Given the description of an element on the screen output the (x, y) to click on. 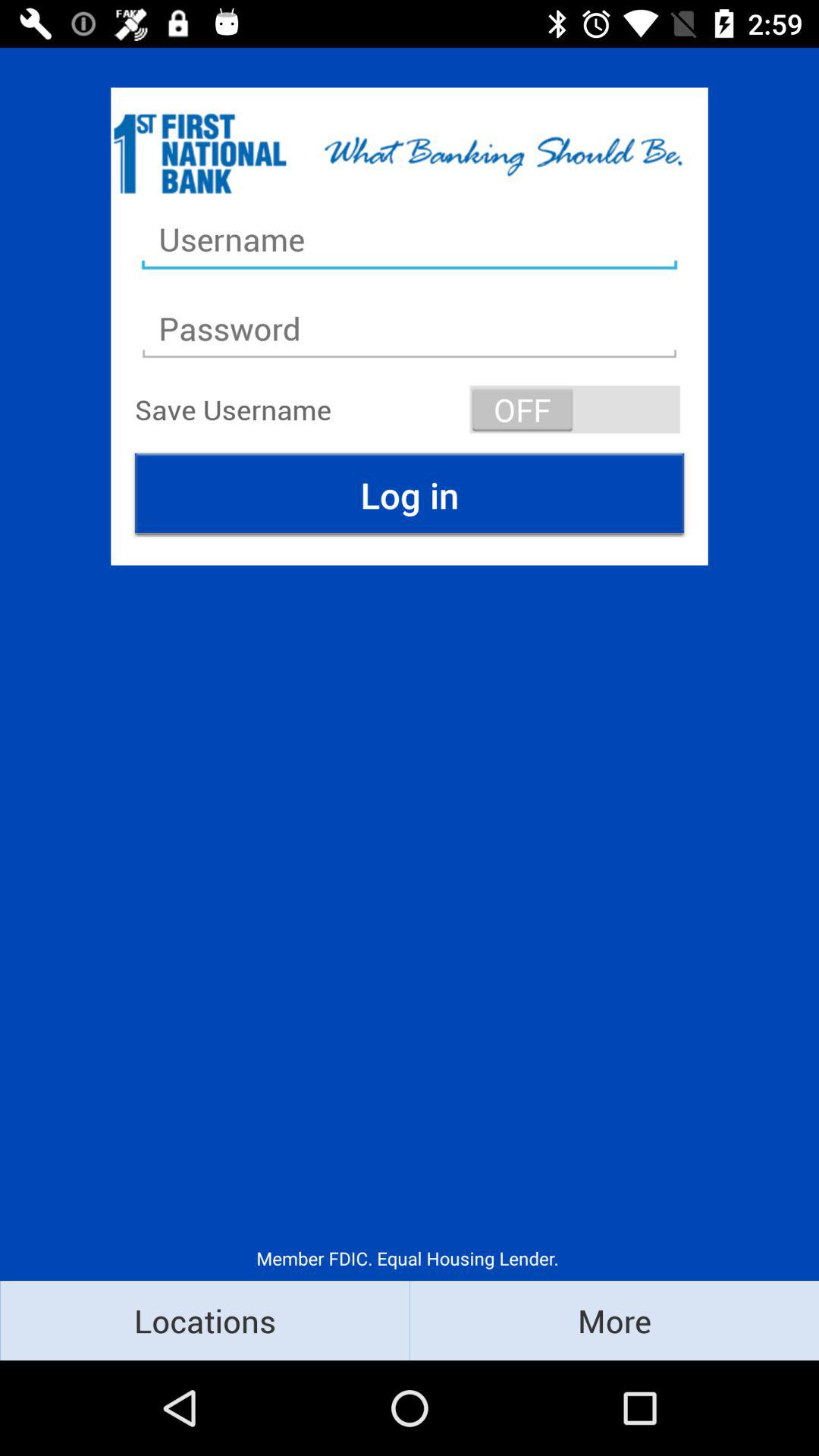
launch icon at the top right corner (574, 409)
